Given the description of an element on the screen output the (x, y) to click on. 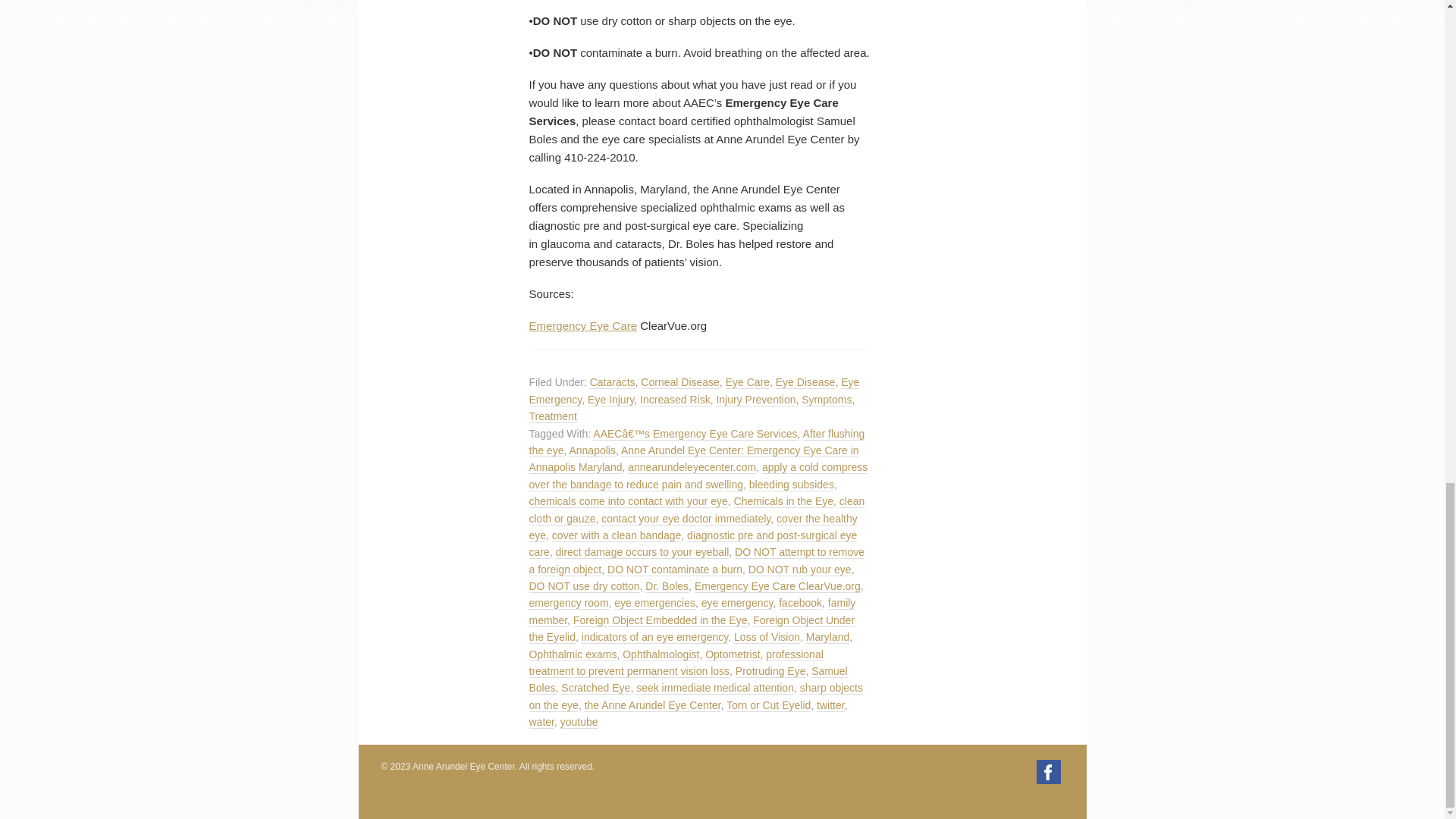
annearundeleyecenter.com (691, 467)
clean cloth or gauze (696, 509)
Symptoms (826, 399)
Eye Injury (610, 399)
Eye Care (747, 382)
Chemicals in the Eye (783, 501)
Eye Disease (805, 382)
After flushing the eye (696, 442)
Emergency Eye Care (583, 325)
Injury Prevention (755, 399)
